Given the description of an element on the screen output the (x, y) to click on. 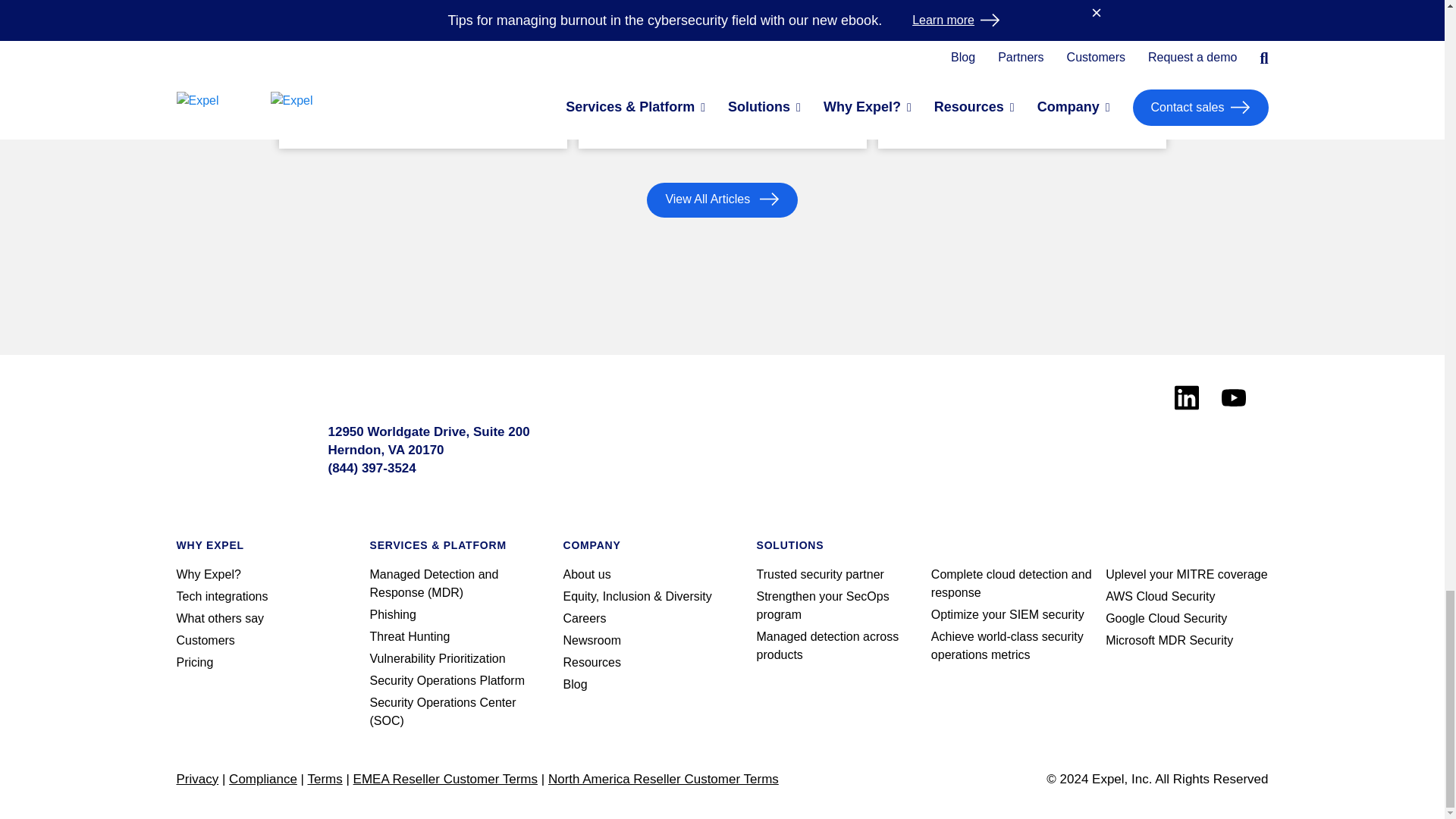
youtube-icon (1232, 397)
linkedin-icon (1185, 397)
twitter-x-icon (1037, 441)
